Given the description of an element on the screen output the (x, y) to click on. 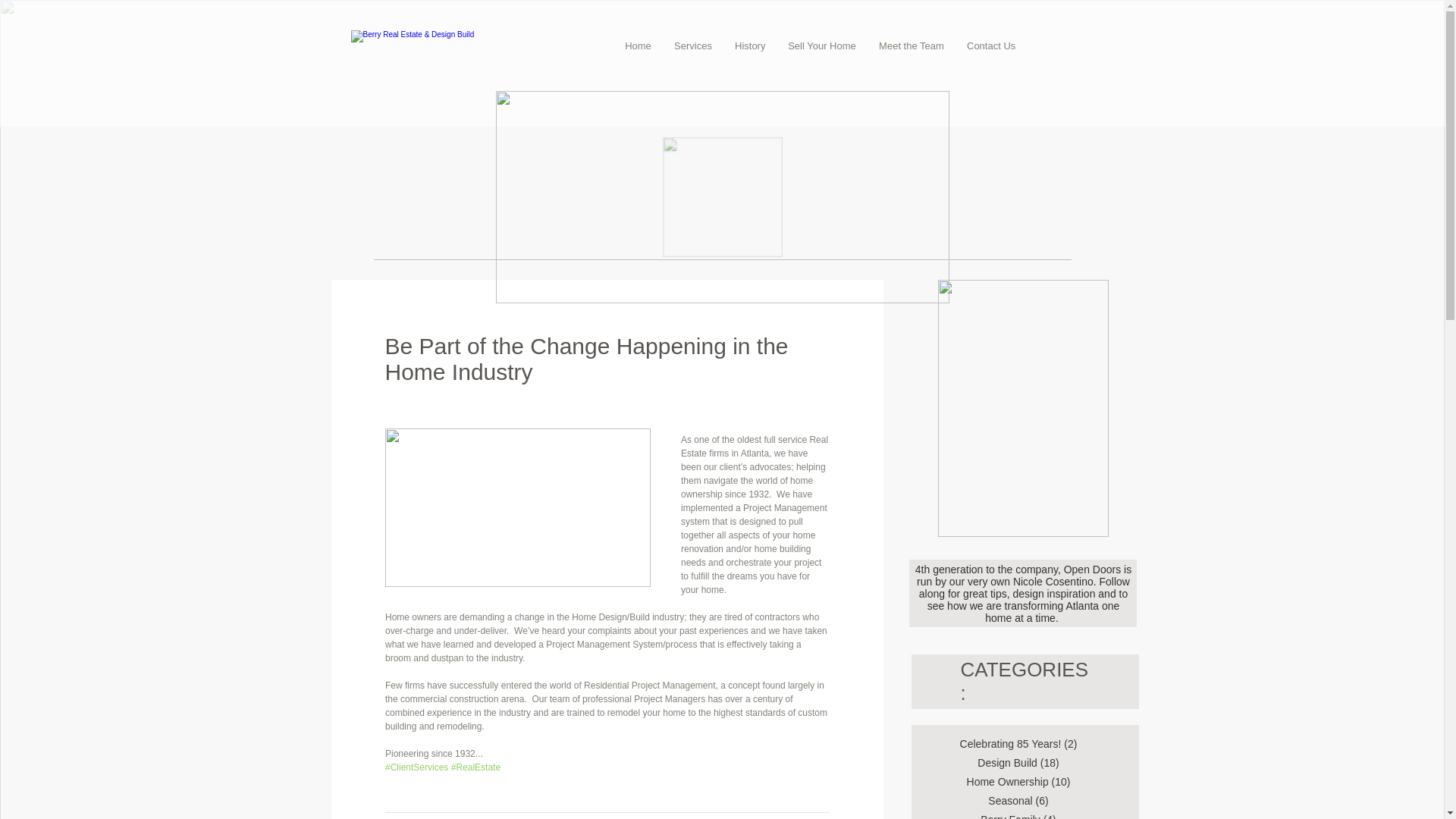
Services (692, 46)
Home (637, 46)
Sell Your Home (821, 46)
History (749, 46)
Contact Us (990, 46)
Meet the Team (911, 46)
